Given the description of an element on the screen output the (x, y) to click on. 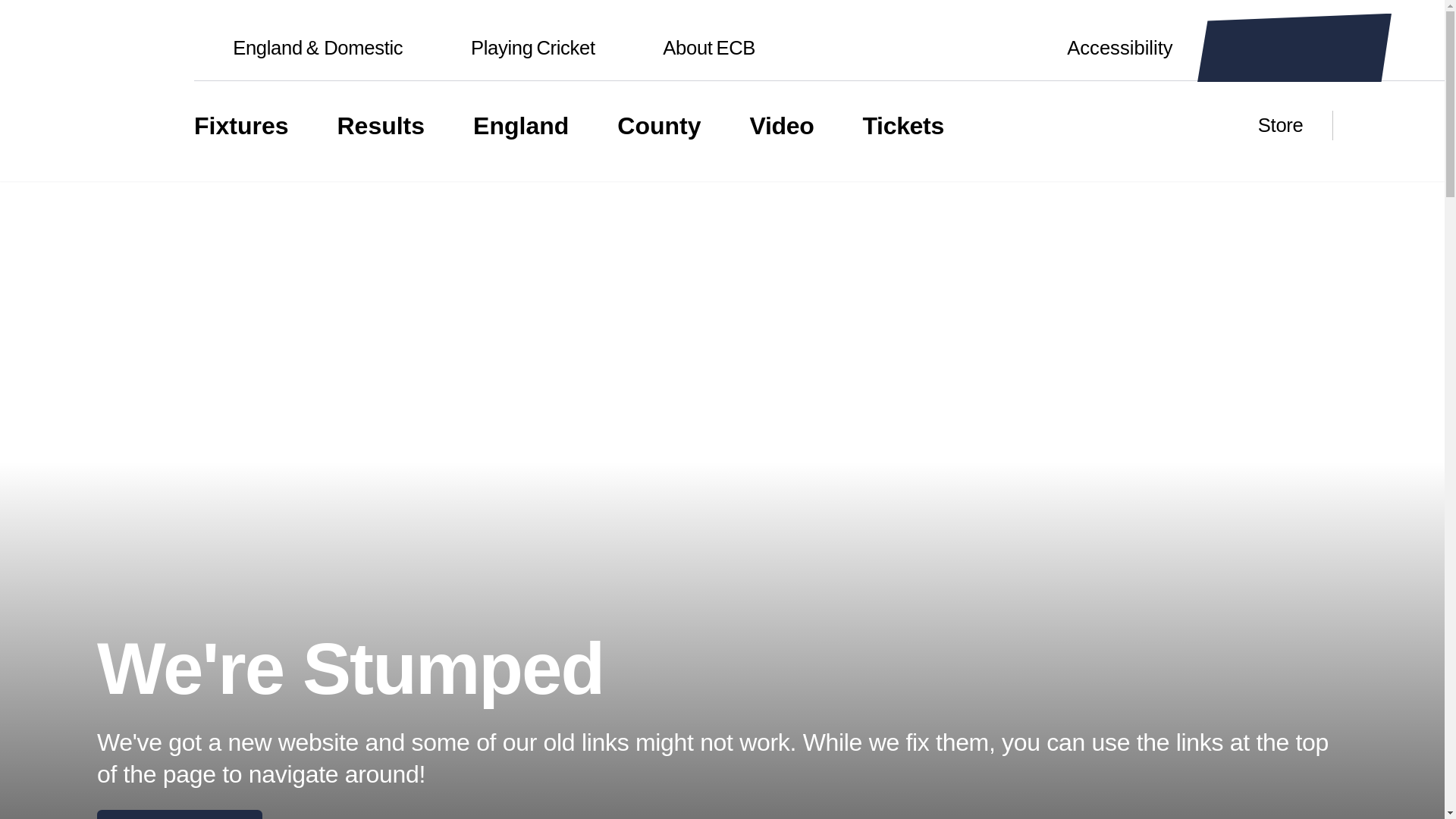
Fixtures (240, 126)
England (689, 47)
We're Stumped (513, 47)
Results (521, 126)
County (179, 814)
